Given the description of an element on the screen output the (x, y) to click on. 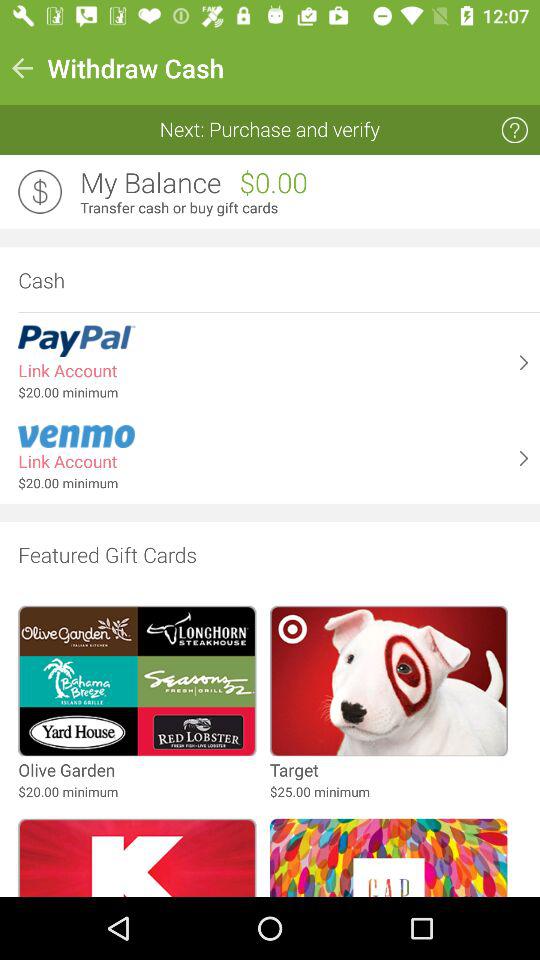
open olive garden icon (66, 770)
